Given the description of an element on the screen output the (x, y) to click on. 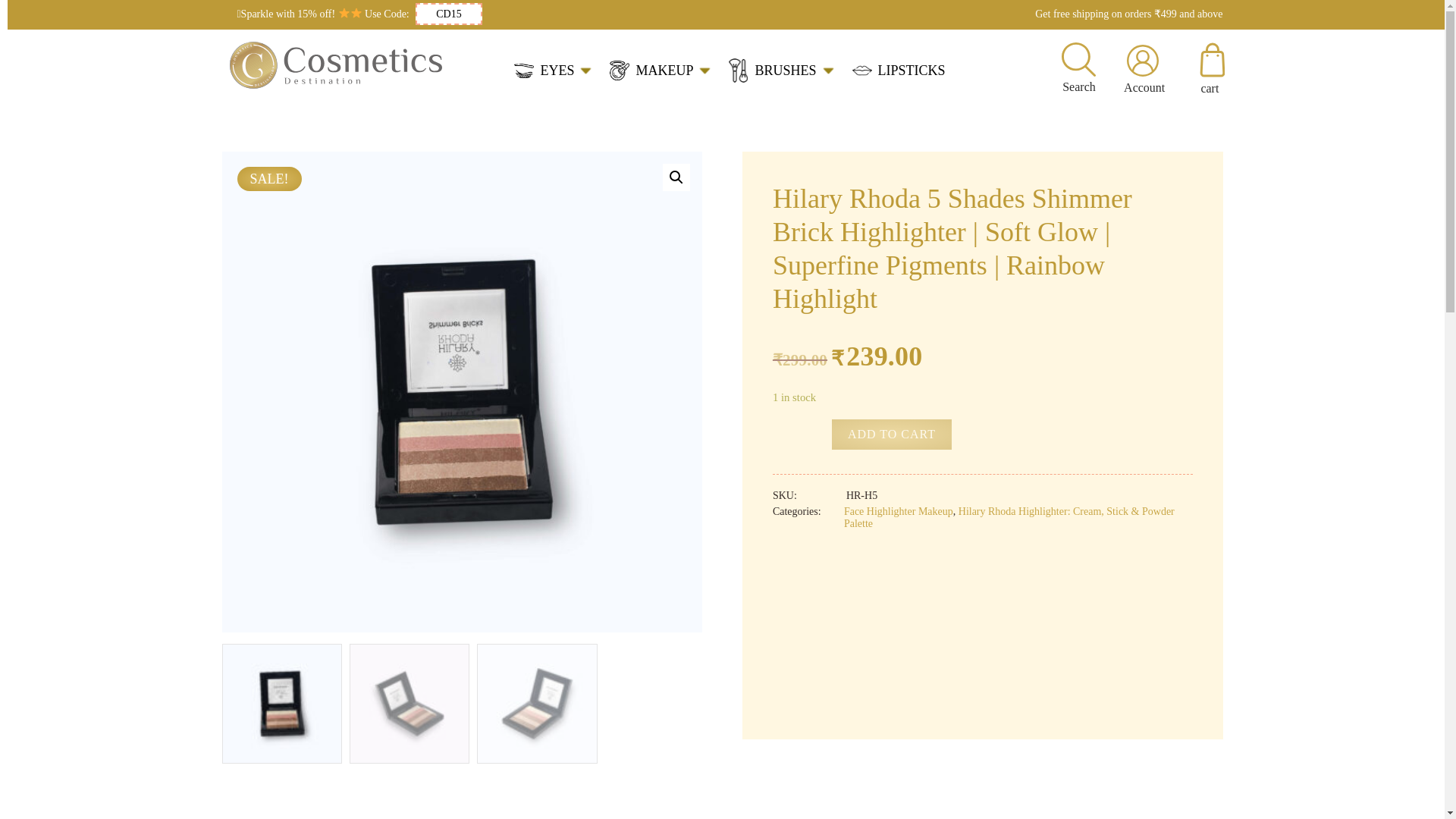
LIPSTICKS (897, 70)
ADD TO CART (891, 434)
EYES (552, 70)
MAKEUP (660, 70)
BRUSHES (780, 70)
